Given the description of an element on the screen output the (x, y) to click on. 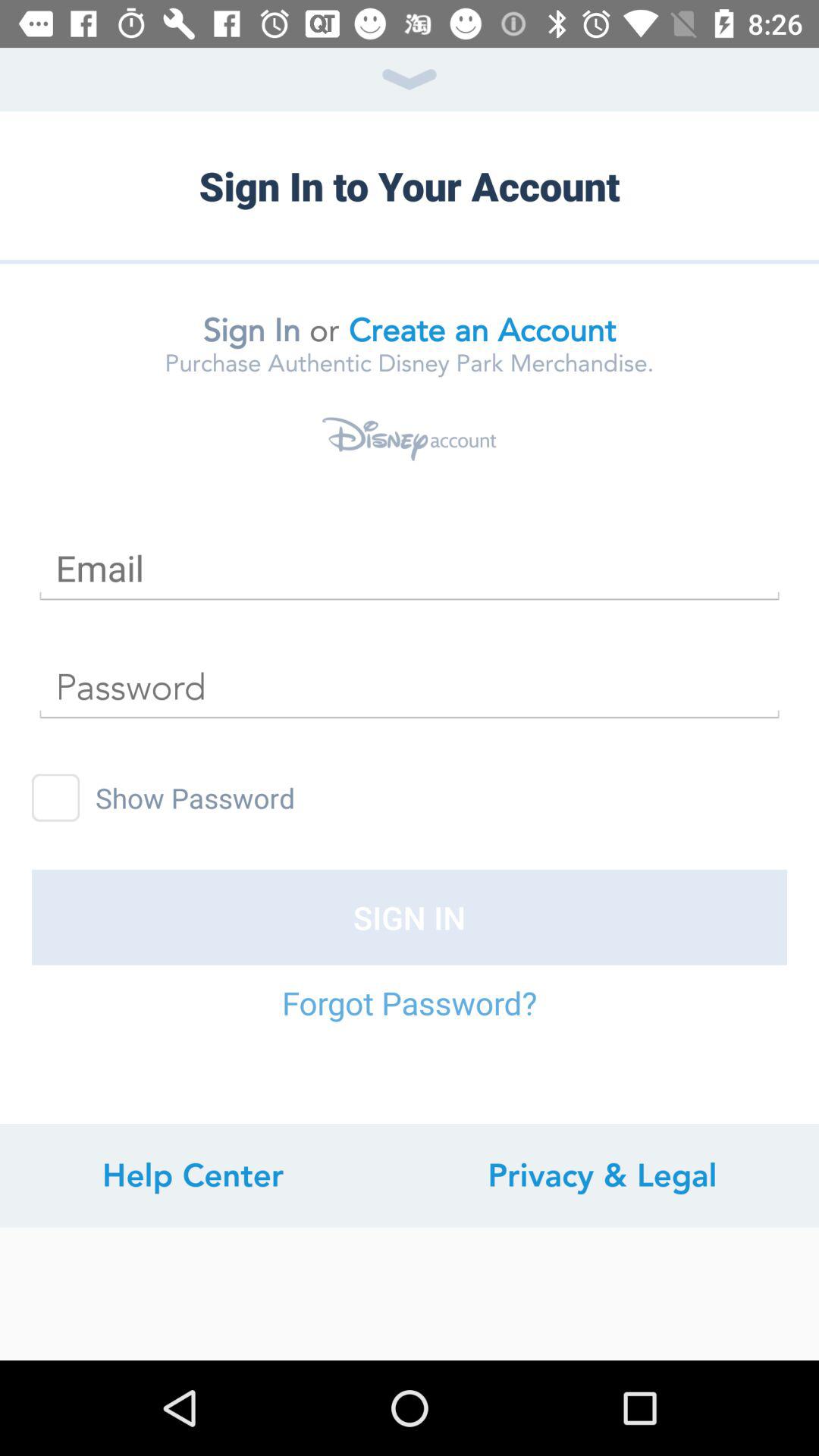
choose item to the left of privacy & legal item (192, 1175)
